Given the description of an element on the screen output the (x, y) to click on. 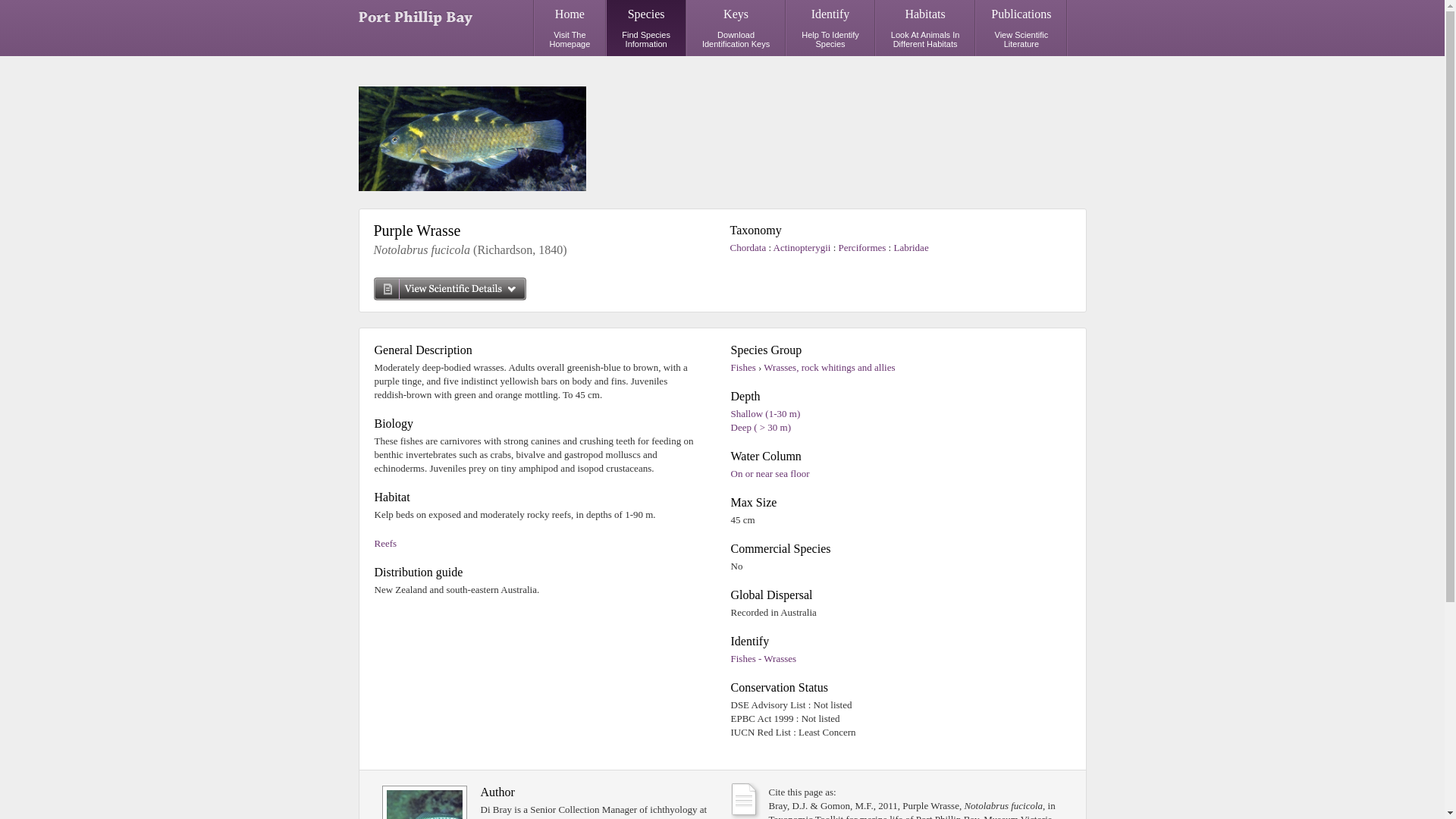
Fishes Element type: text (743, 367)
PORT PHILLIP BAY Element type: text (416, 21)
Keys

Download
Identification Keys Element type: text (735, 28)
Fishes - Wrasses Element type: text (764, 658)
Wrasses, rock whitings and allies Element type: text (828, 367)
Publications

View Scientific
Literature Element type: text (1020, 28)
Species

Find Species
Information Element type: text (645, 28)
Actinopterygii Element type: text (803, 247)
Labridae Element type: text (910, 247)
On or near sea floor Element type: text (770, 473)
Habitats

Look At Animals In
Different Habitats Element type: text (925, 28)
Shallow (1-30 m) Element type: text (765, 413)
Perciformes Element type: text (863, 247)
Deep ( > 30 m) Element type: text (761, 427)
Identify

Help To Identify
Species Element type: text (830, 28)
Home

Visit The
Homepage Element type: text (569, 28)
Reefs Element type: text (385, 543)
Chordata Element type: text (748, 247)
